Given the description of an element on the screen output the (x, y) to click on. 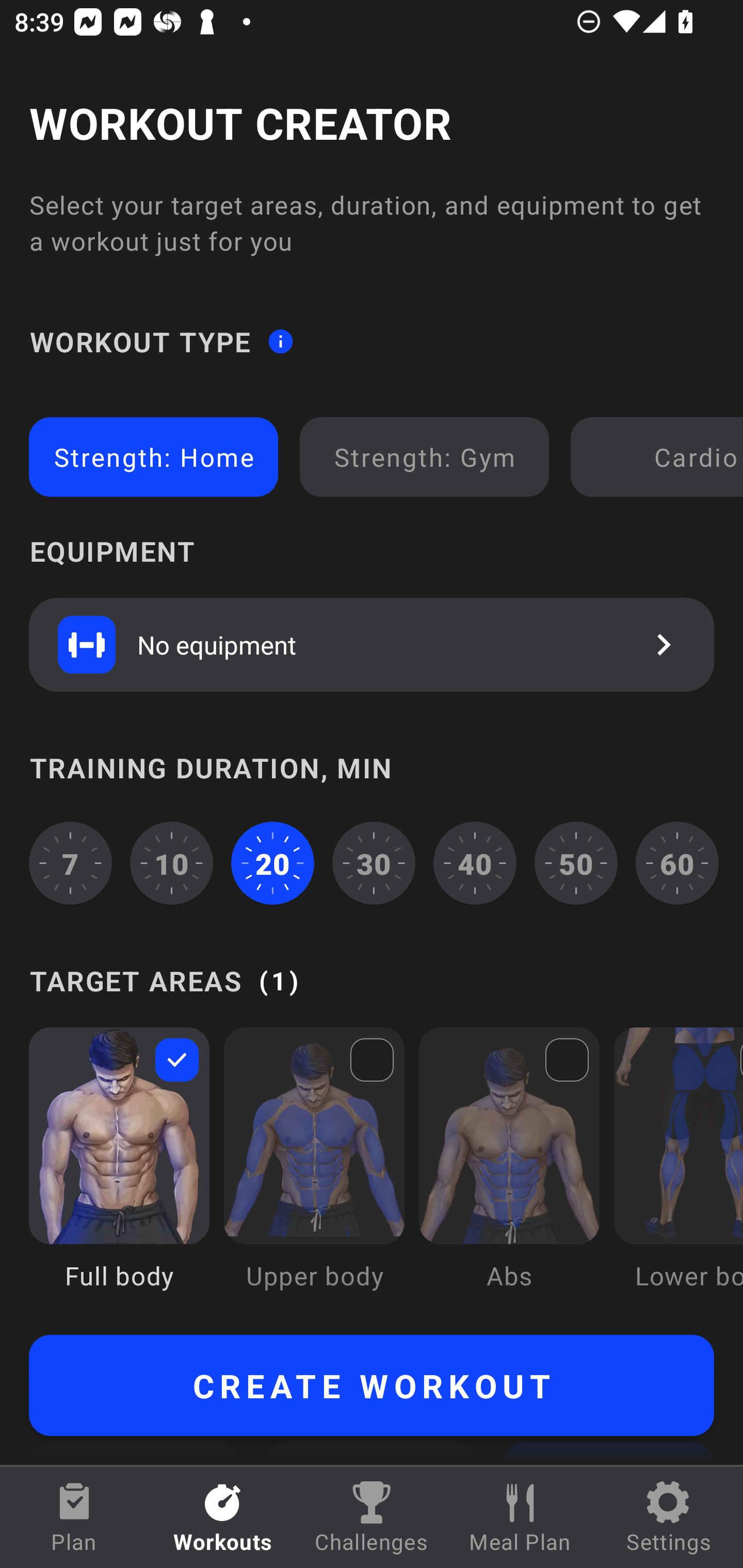
Workout type information button (280, 340)
Strength: Gym (423, 457)
Cardio (660, 457)
No equipment (371, 644)
7 (70, 862)
10 (171, 862)
20 (272, 862)
30 (373, 862)
40 (474, 862)
50 (575, 862)
60 (676, 862)
Upper body (313, 1172)
Abs (509, 1172)
Lower body (678, 1172)
CREATE WORKOUT (371, 1385)
 Plan  (74, 1517)
 Challenges  (371, 1517)
 Meal Plan  (519, 1517)
 Settings  (668, 1517)
